Given the description of an element on the screen output the (x, y) to click on. 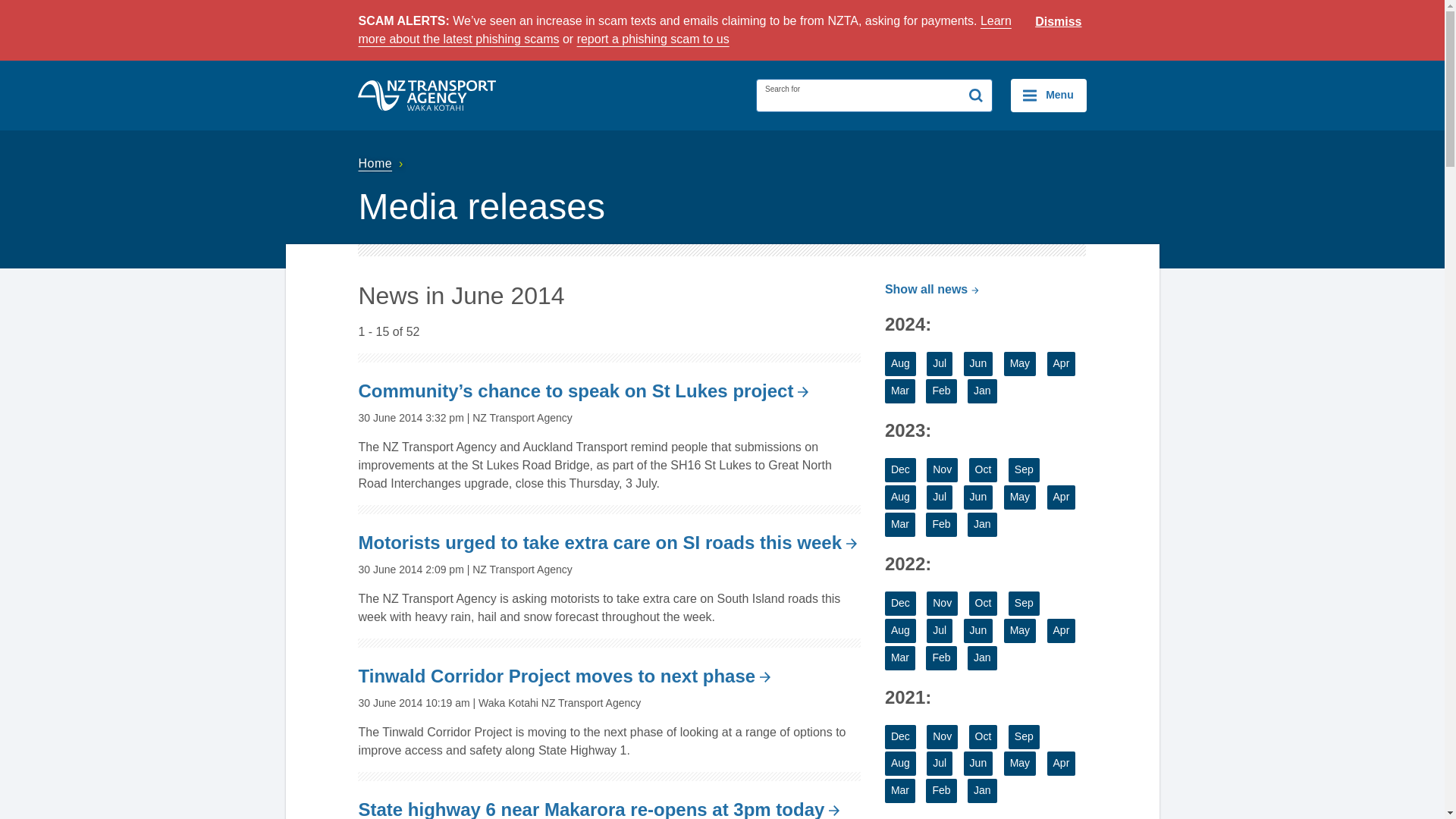
Home (382, 163)
Learn more about the latest phishing scams (684, 29)
Dismiss (1058, 21)
report a phishing scam to us (652, 38)
NZ Transport Agency Waka Kotahi (427, 95)
Menu (1048, 95)
